Given the description of an element on the screen output the (x, y) to click on. 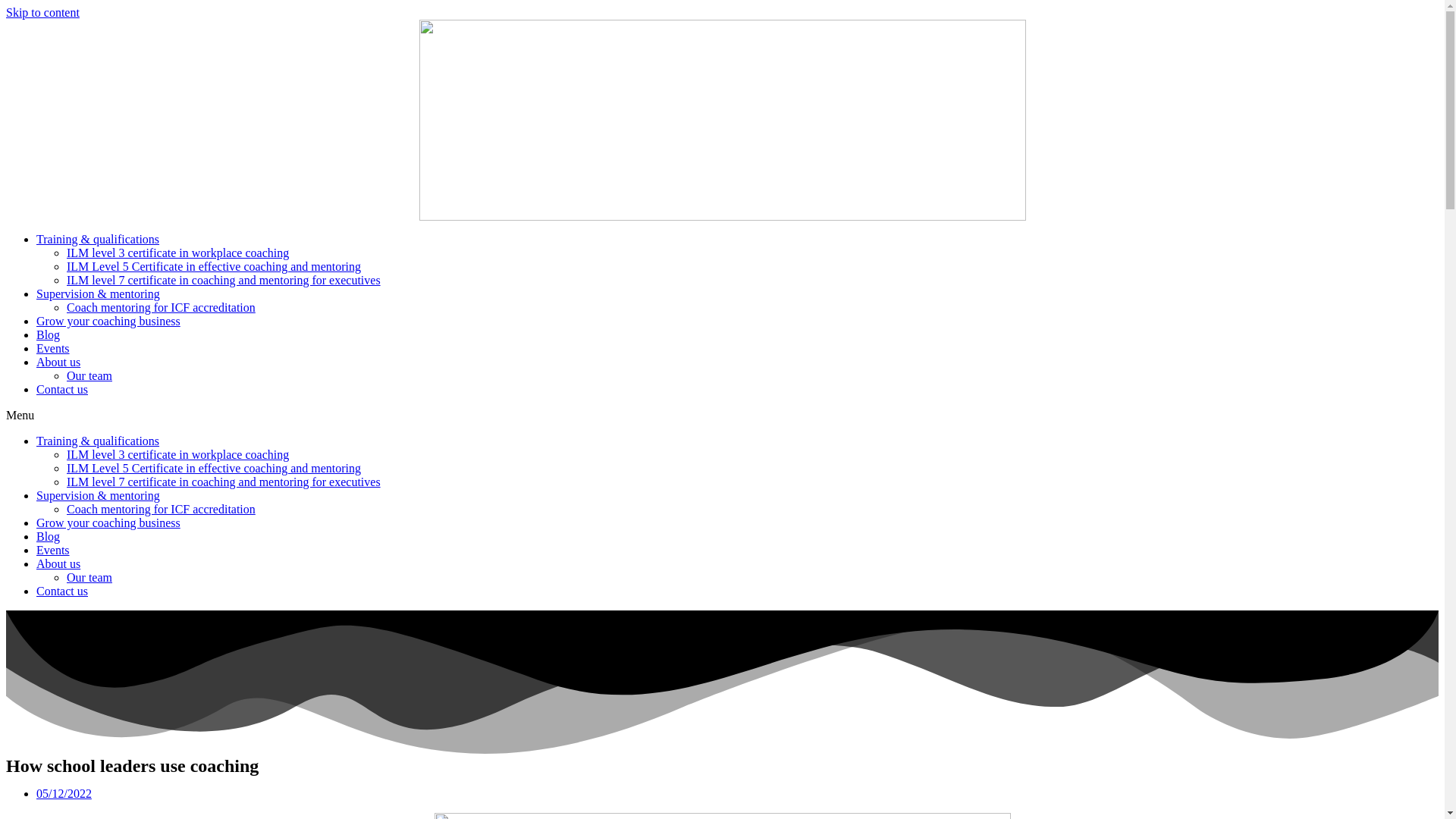
ILM level 3 certificate in workplace coaching (177, 454)
Blog (47, 535)
Coach mentoring for ICF accreditation (161, 508)
Our team (89, 375)
Events (52, 348)
About us (58, 563)
About us (58, 361)
Events (52, 549)
Our team (89, 576)
Contact us (61, 389)
ILM level 3 certificate in workplace coaching (177, 252)
ILM Level 5 Certificate in effective coaching and mentoring (213, 468)
Skip to content (42, 11)
